Given the description of an element on the screen output the (x, y) to click on. 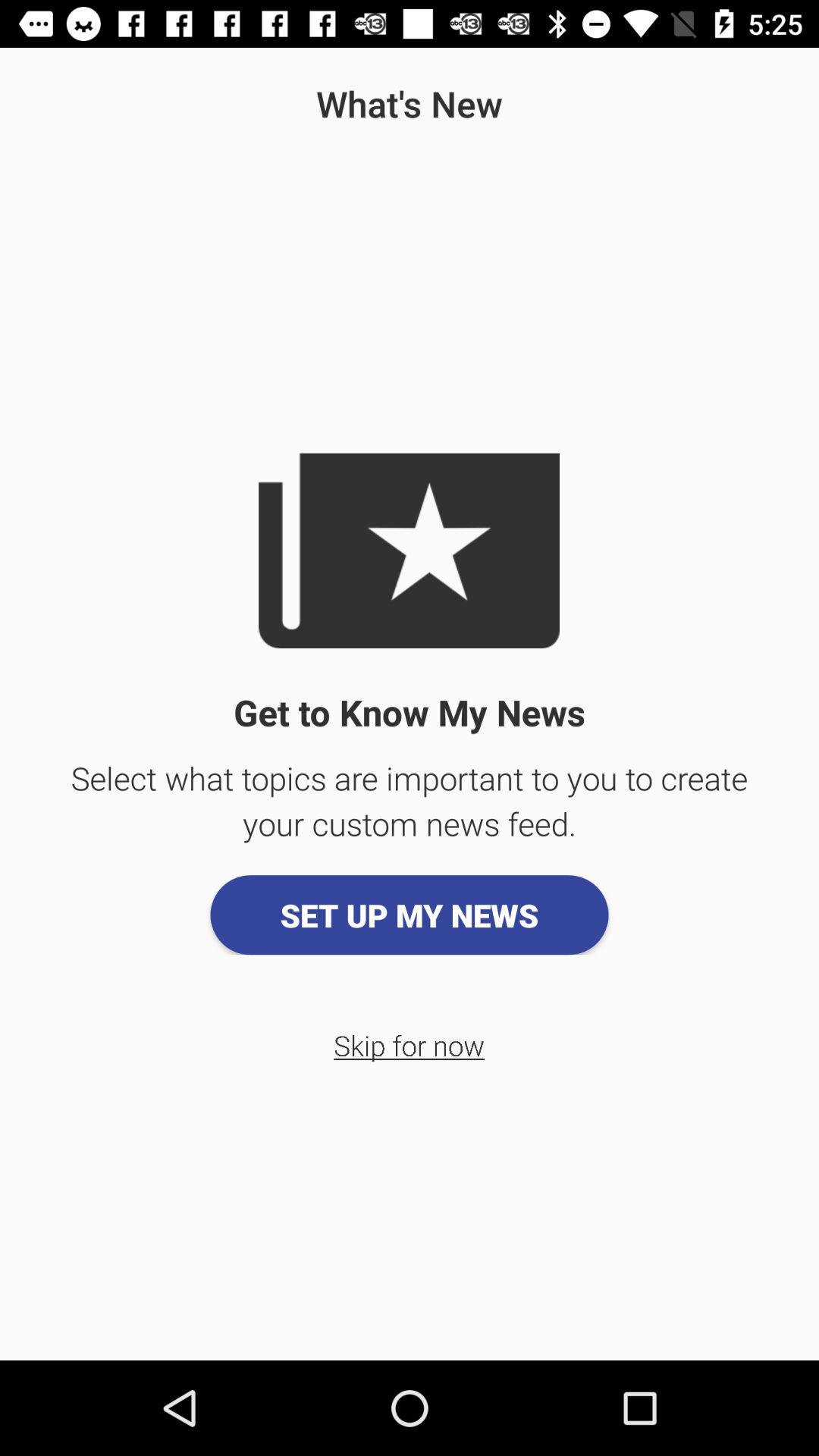
scroll until the skip for now app (409, 1044)
